Given the description of an element on the screen output the (x, y) to click on. 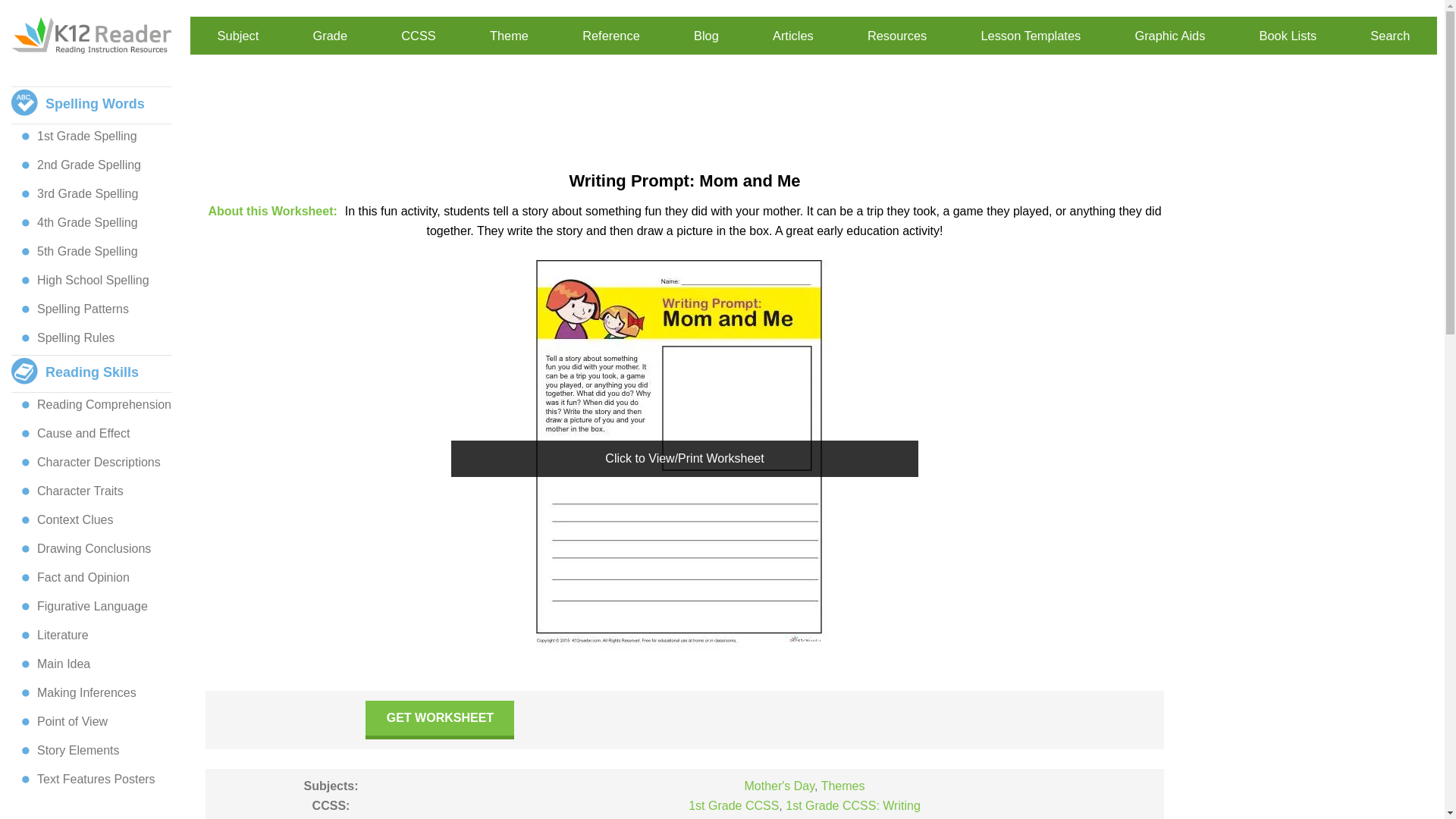
Search (1389, 35)
Drawing Conclusions Worksheets (90, 549)
Theme (508, 35)
Main Idea Worksheets (59, 663)
Reading Comprehension Worksheets (100, 404)
Book Lists (1288, 35)
Graphic Aids (1169, 35)
Second Grade Spelling Worksheets (85, 165)
4th Grade Spelling (83, 222)
Lesson Templates (1029, 35)
Resources (896, 35)
Context Clues Worksheets (71, 519)
Fourth Grade Spelling Worksheets (83, 222)
Grade (330, 35)
